Given the description of an element on the screen output the (x, y) to click on. 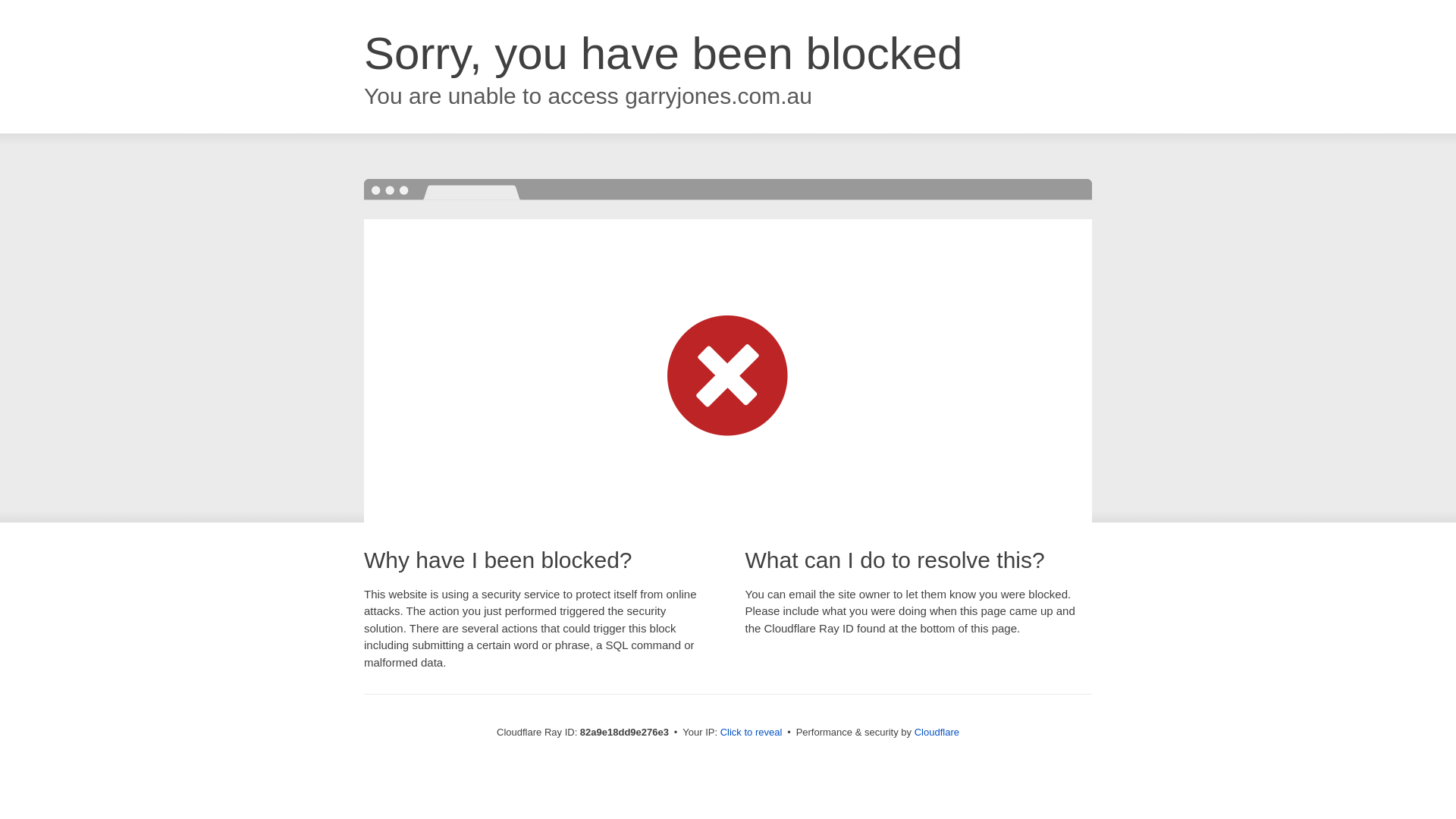
Click to reveal Element type: text (751, 732)
Cloudflare Element type: text (936, 731)
